Given the description of an element on the screen output the (x, y) to click on. 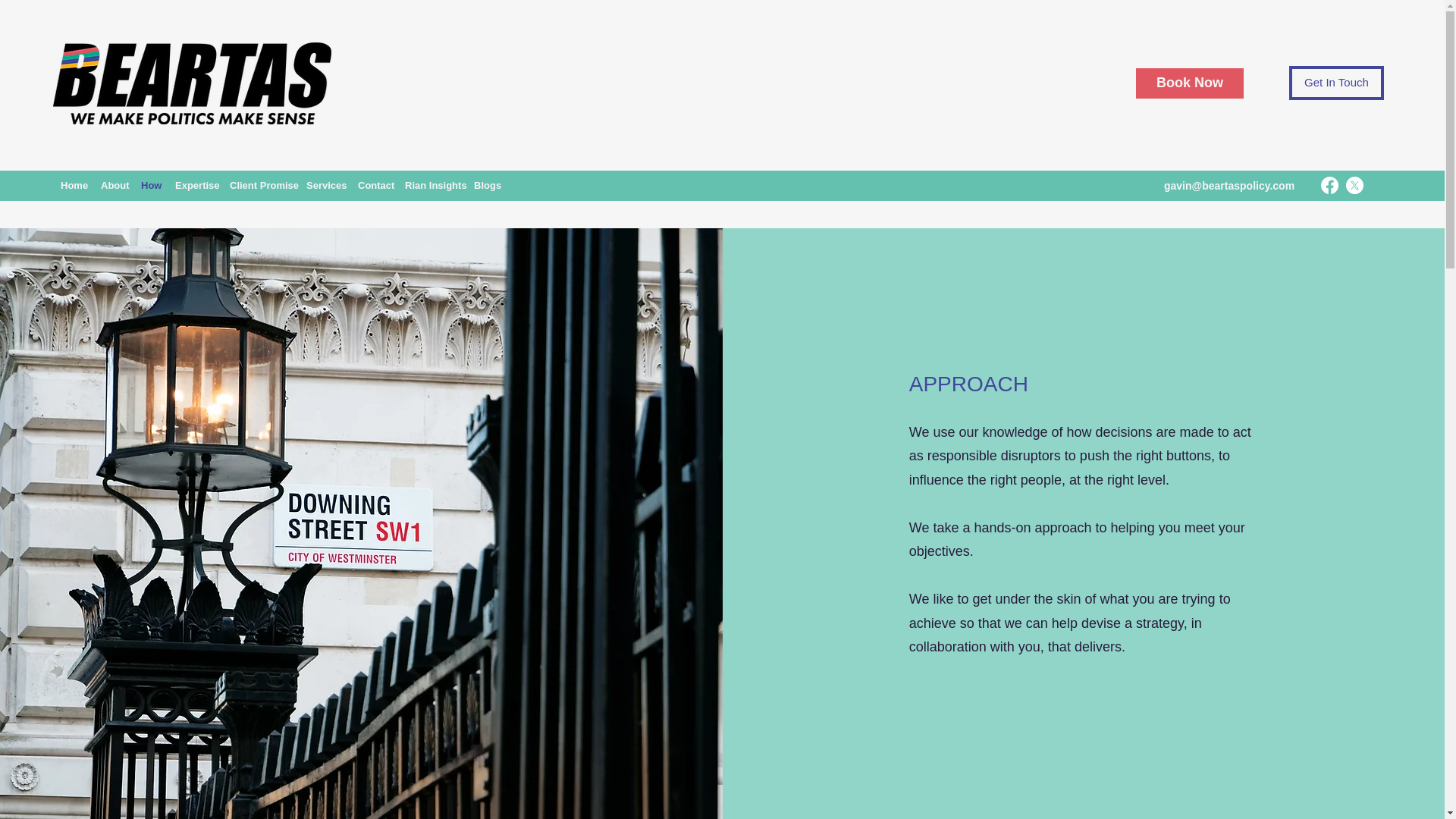
Services (324, 185)
Rian Insights (431, 185)
Client Promise (260, 185)
About (113, 185)
Home (72, 185)
Get In Touch (1336, 82)
Expertise (194, 185)
Contact (373, 185)
Blogs (485, 185)
How (150, 185)
Book Now (1189, 82)
